Given the description of an element on the screen output the (x, y) to click on. 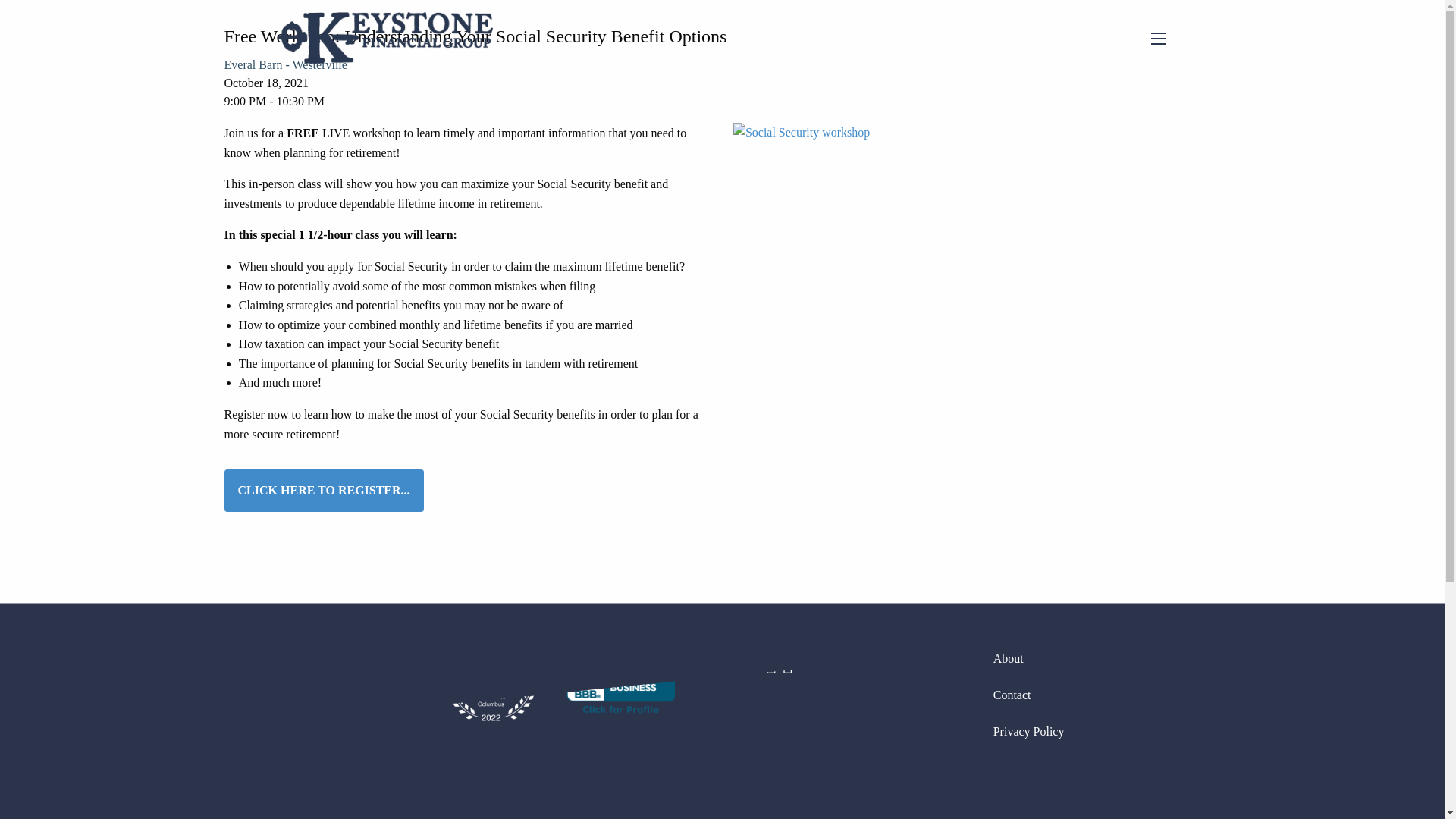
About (1111, 658)
Contact (1111, 695)
Privacy Policy (1111, 731)
CLICK HERE TO REGISTER... (323, 490)
